Given the description of an element on the screen output the (x, y) to click on. 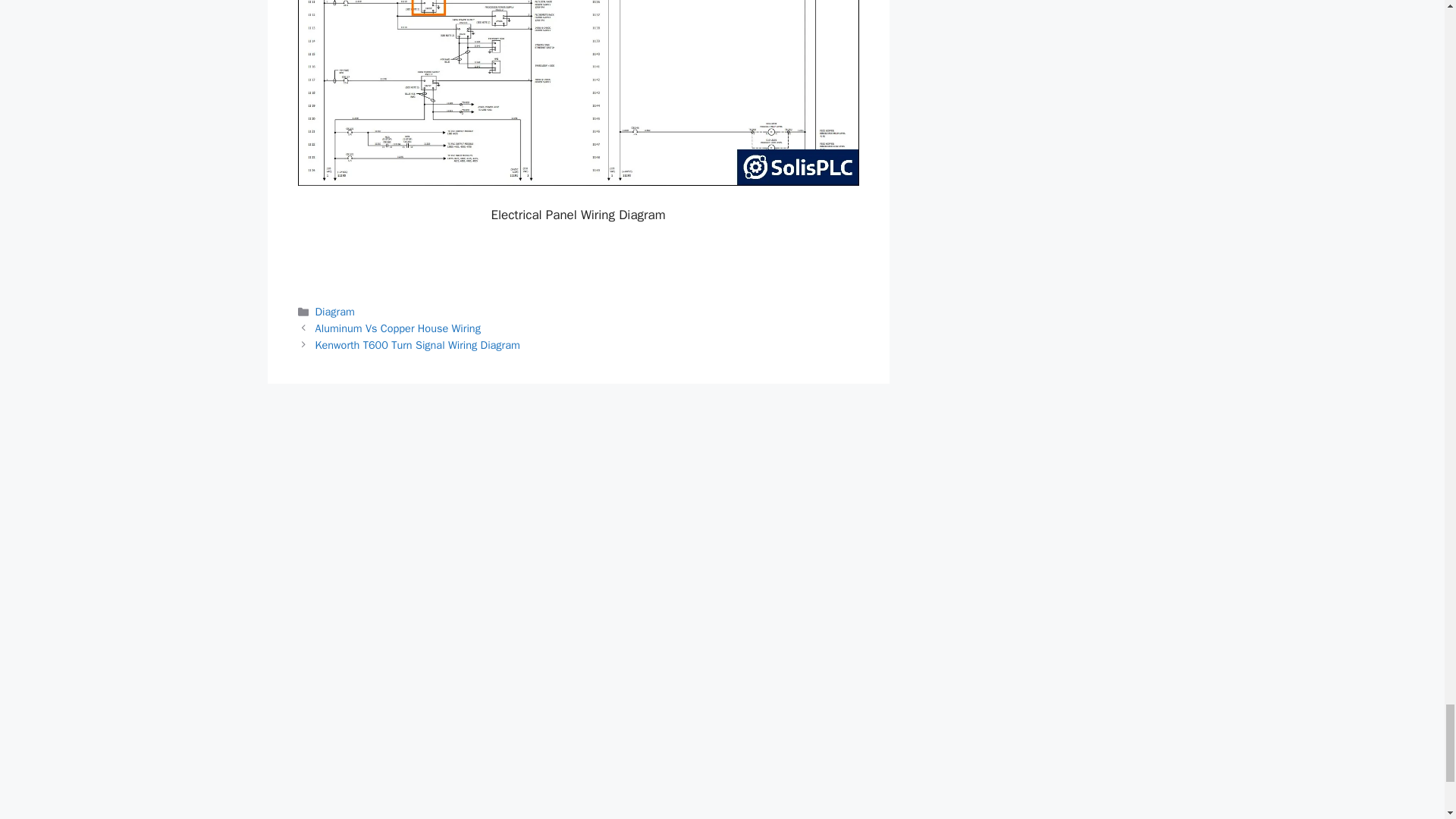
Kenworth T600 Turn Signal Wiring Diagram (417, 345)
Aluminum Vs Copper House Wiring (397, 327)
Diagram (335, 311)
